Given the description of an element on the screen output the (x, y) to click on. 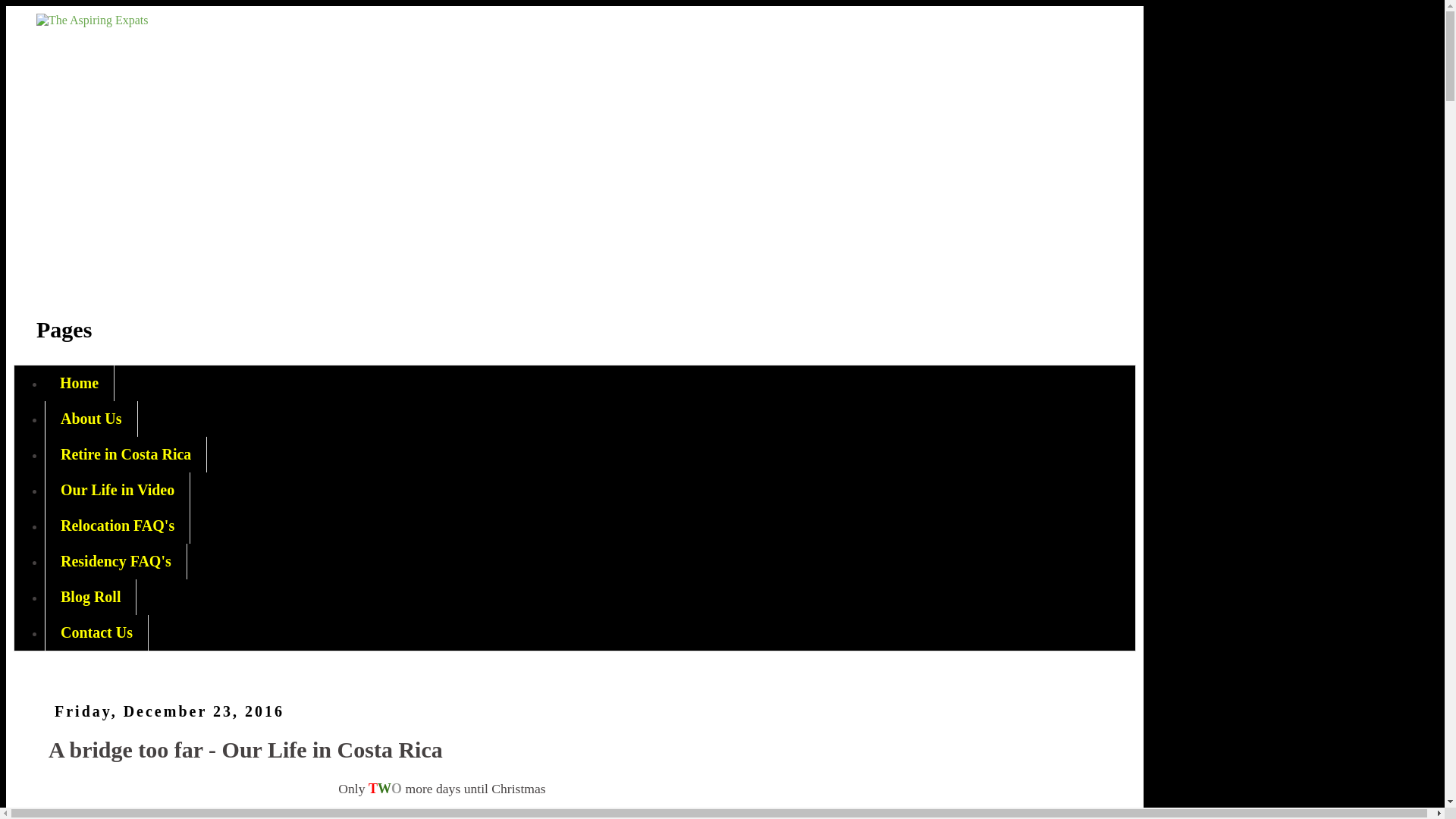
Contact Us (96, 632)
Home (80, 383)
Our Life in Video (117, 489)
Retire in Costa Rica (125, 454)
Blog Roll (90, 597)
Residency FAQ's (116, 561)
About Us (91, 418)
Relocation FAQ's (117, 525)
